Given the description of an element on the screen output the (x, y) to click on. 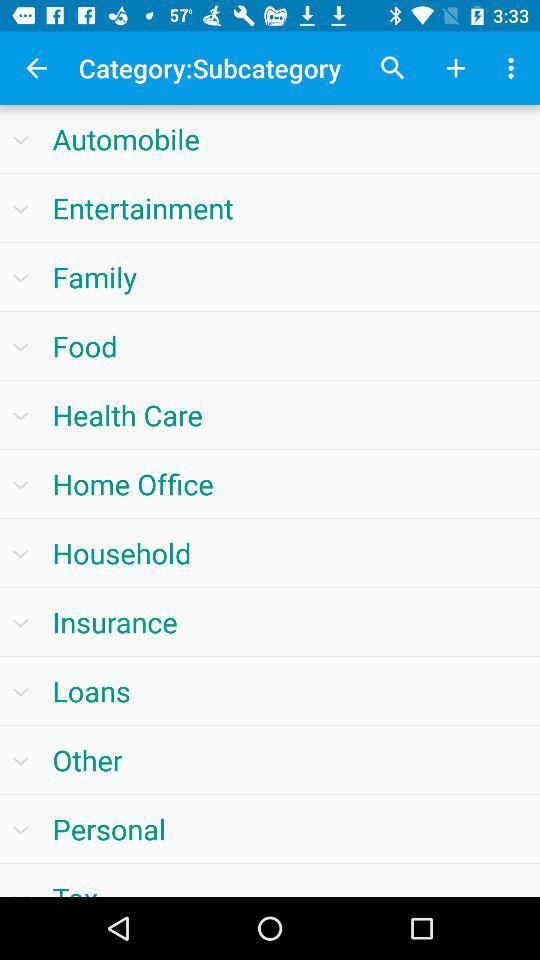
turn on app next to the category:subcategory item (36, 68)
